Given the description of an element on the screen output the (x, y) to click on. 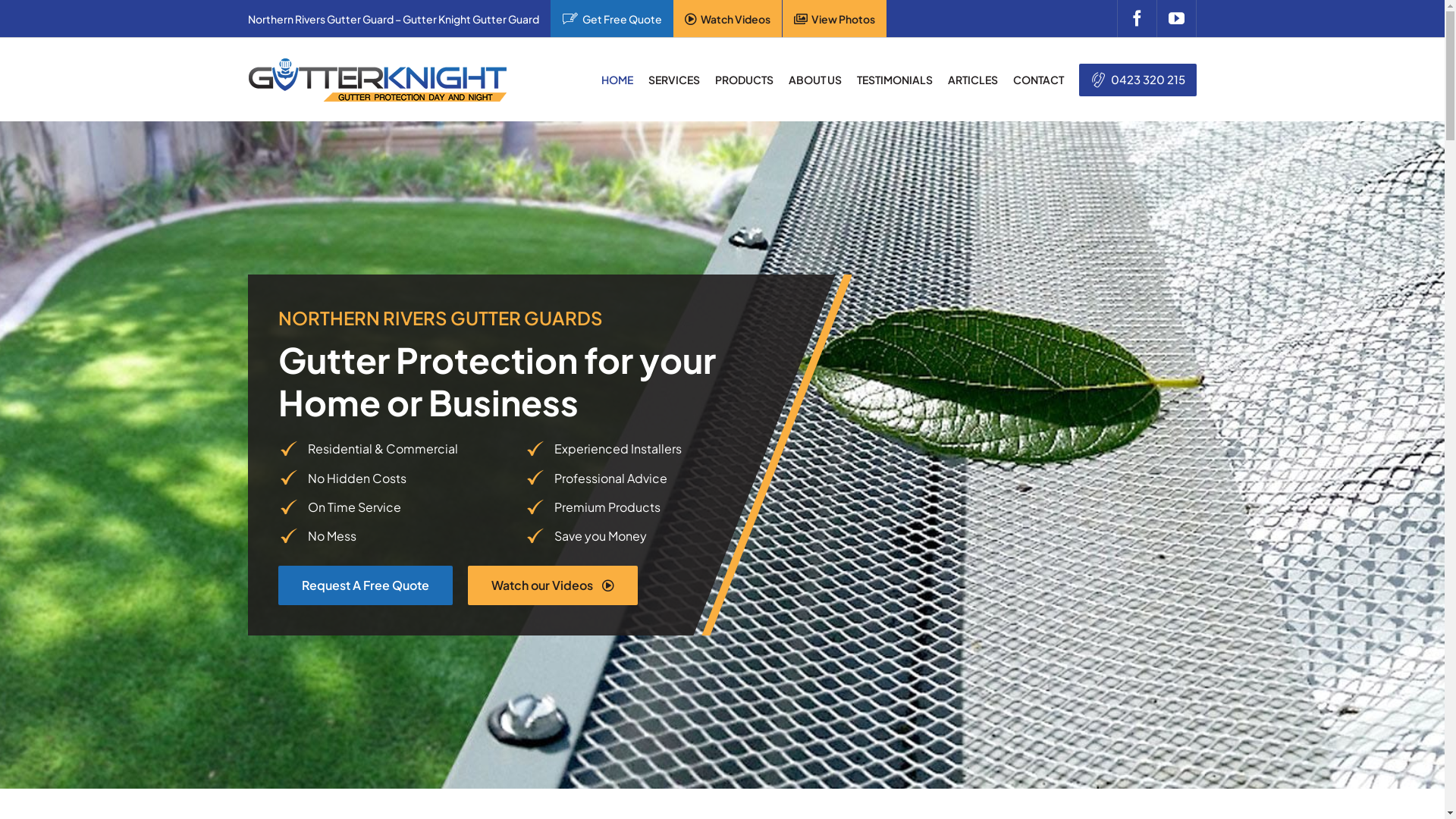
TESTIMONIALS Element type: text (894, 79)
CONTACT Element type: text (1038, 79)
Get Free Quote Element type: text (611, 18)
Watch Videos Element type: text (727, 18)
Home 1 Element type: hover (377, 78)
Request A Free Quote Element type: text (365, 585)
PRODUCTS Element type: text (743, 79)
SERVICES Element type: text (673, 79)
YouTube Element type: hover (1176, 18)
Facebook Element type: hover (1136, 18)
0423 320 215 Element type: text (1136, 79)
Watch our Videos Element type: text (552, 585)
ABOUT US Element type: text (814, 79)
HOME Element type: text (616, 79)
ARTICLES Element type: text (972, 79)
View Photos Element type: text (834, 18)
